Given the description of an element on the screen output the (x, y) to click on. 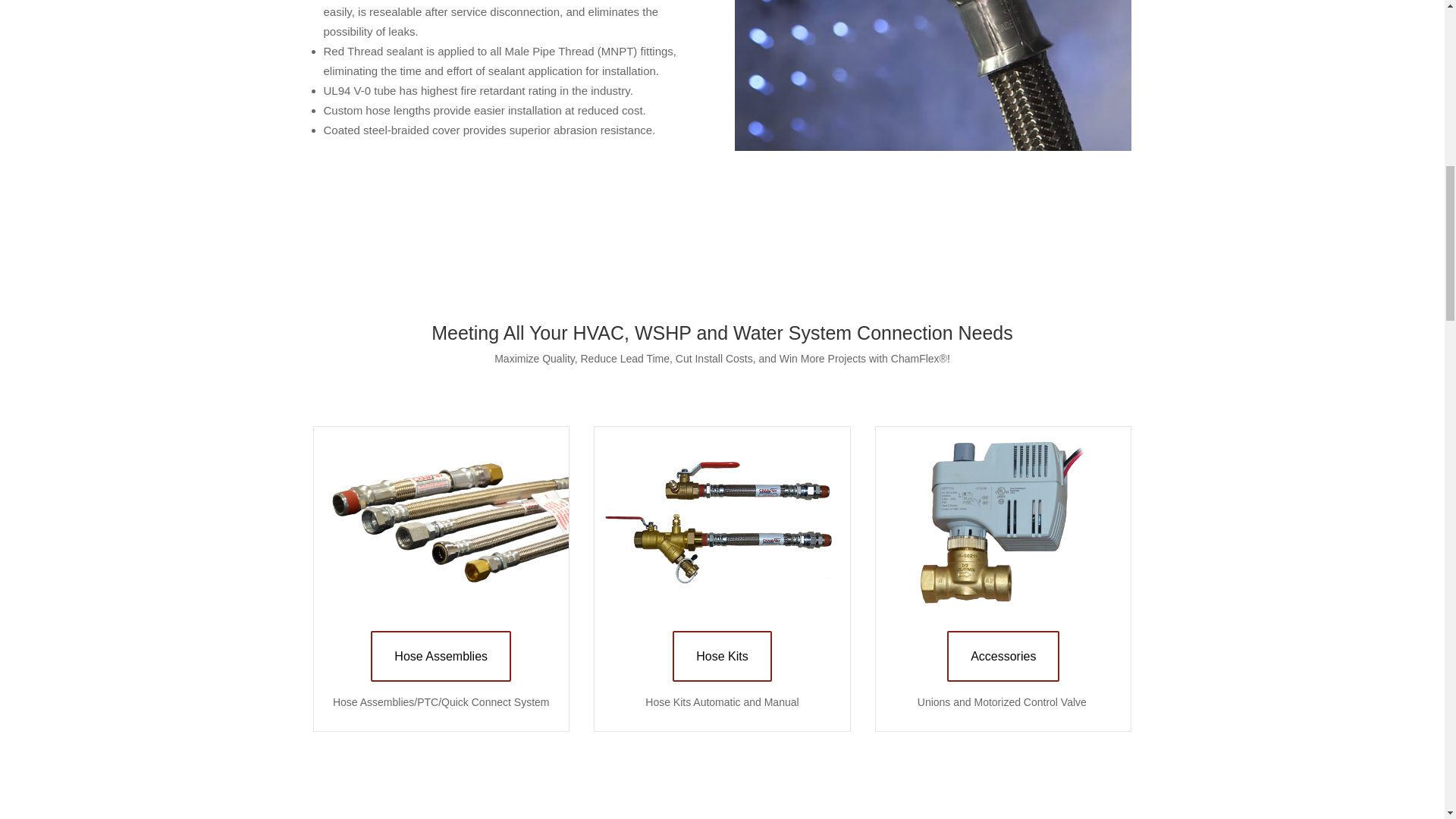
kits (721, 522)
accessories (1003, 522)
hoses (441, 522)
